Given the description of an element on the screen output the (x, y) to click on. 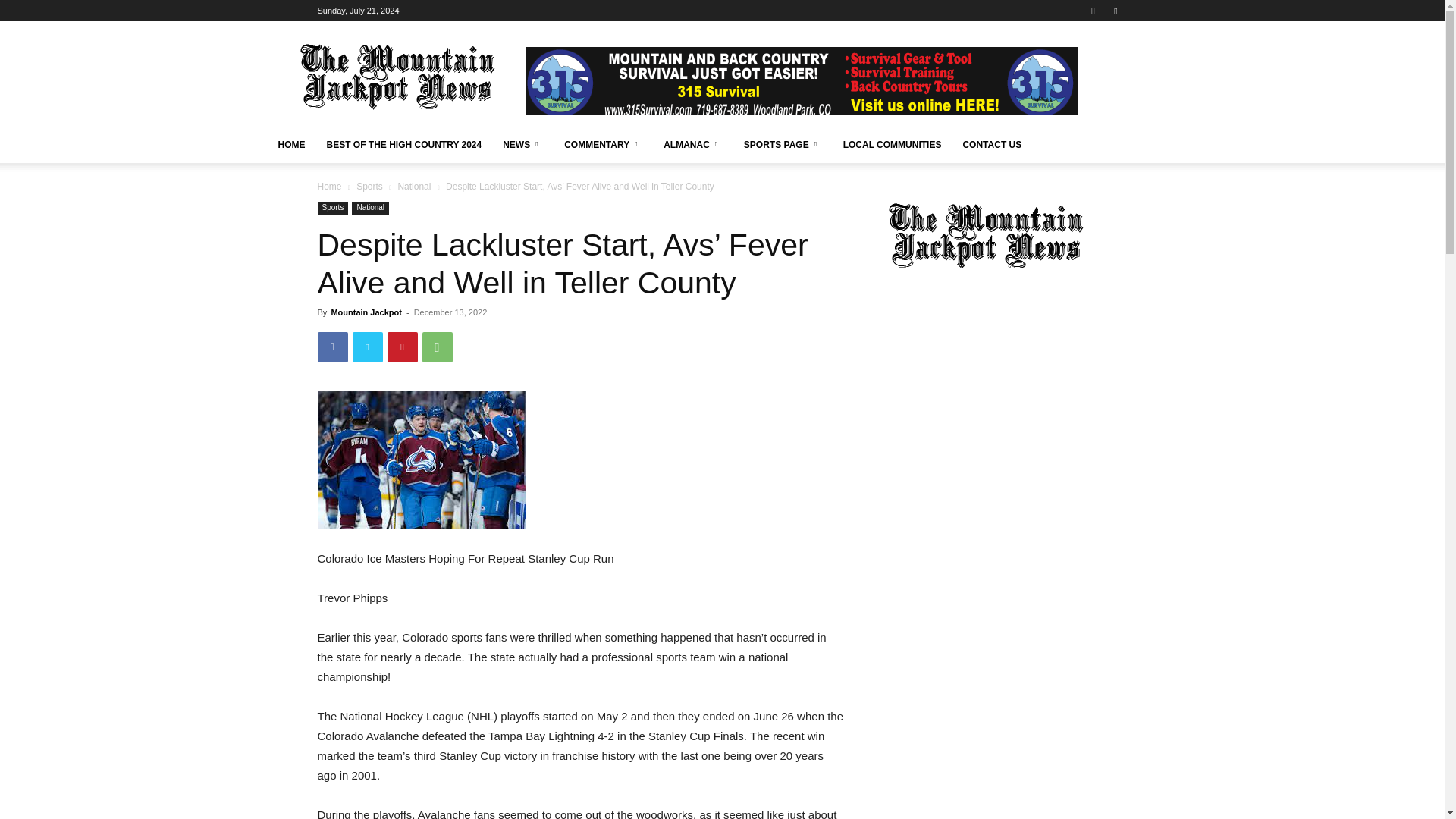
Pinterest (401, 347)
COMMENTARY (602, 144)
BEST OF THE HIGH COUNTRY 2024 (403, 144)
NEWS (522, 144)
HOME (290, 144)
View all posts in National (413, 185)
Facebook (1114, 10)
View all posts in Sports (369, 185)
SPORTS PAGE (782, 144)
WhatsApp (436, 347)
Search (1085, 64)
ALMANAC (692, 144)
Facebook (332, 347)
Twitter (366, 347)
